Given the description of an element on the screen output the (x, y) to click on. 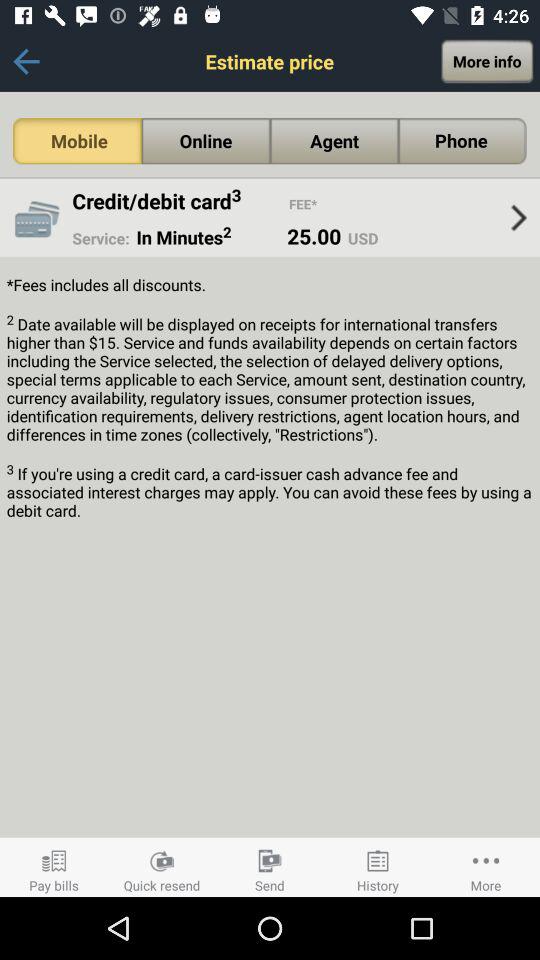
press the item to the right of the usd item (518, 218)
